Given the description of an element on the screen output the (x, y) to click on. 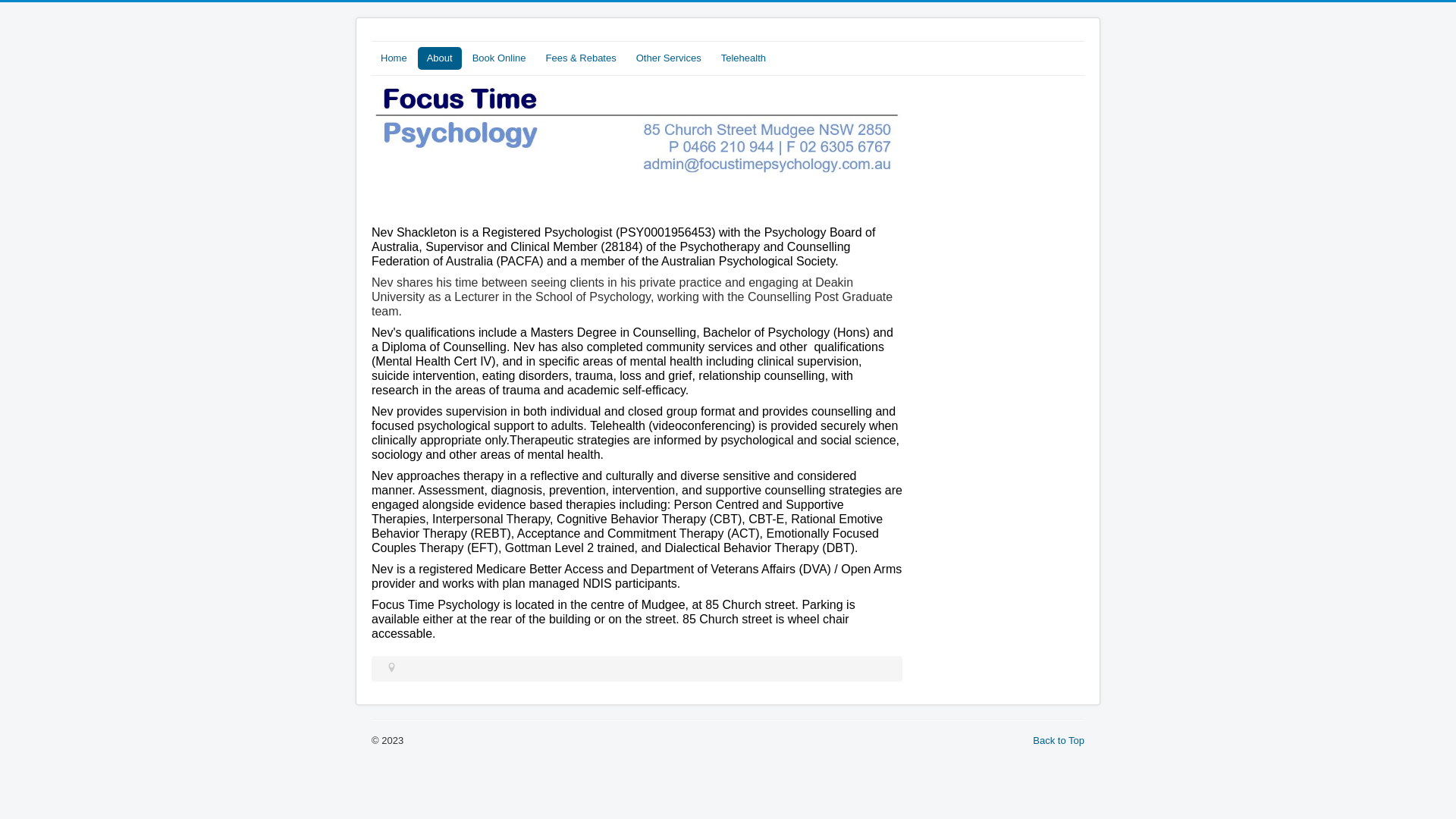
Telehealth Element type: text (743, 58)
Home Element type: text (393, 58)
Other Services Element type: text (668, 58)
About Element type: text (439, 58)
Back to Top Element type: text (1058, 740)
Book Online Element type: text (499, 58)
Fees & Rebates Element type: text (580, 58)
